Given the description of an element on the screen output the (x, y) to click on. 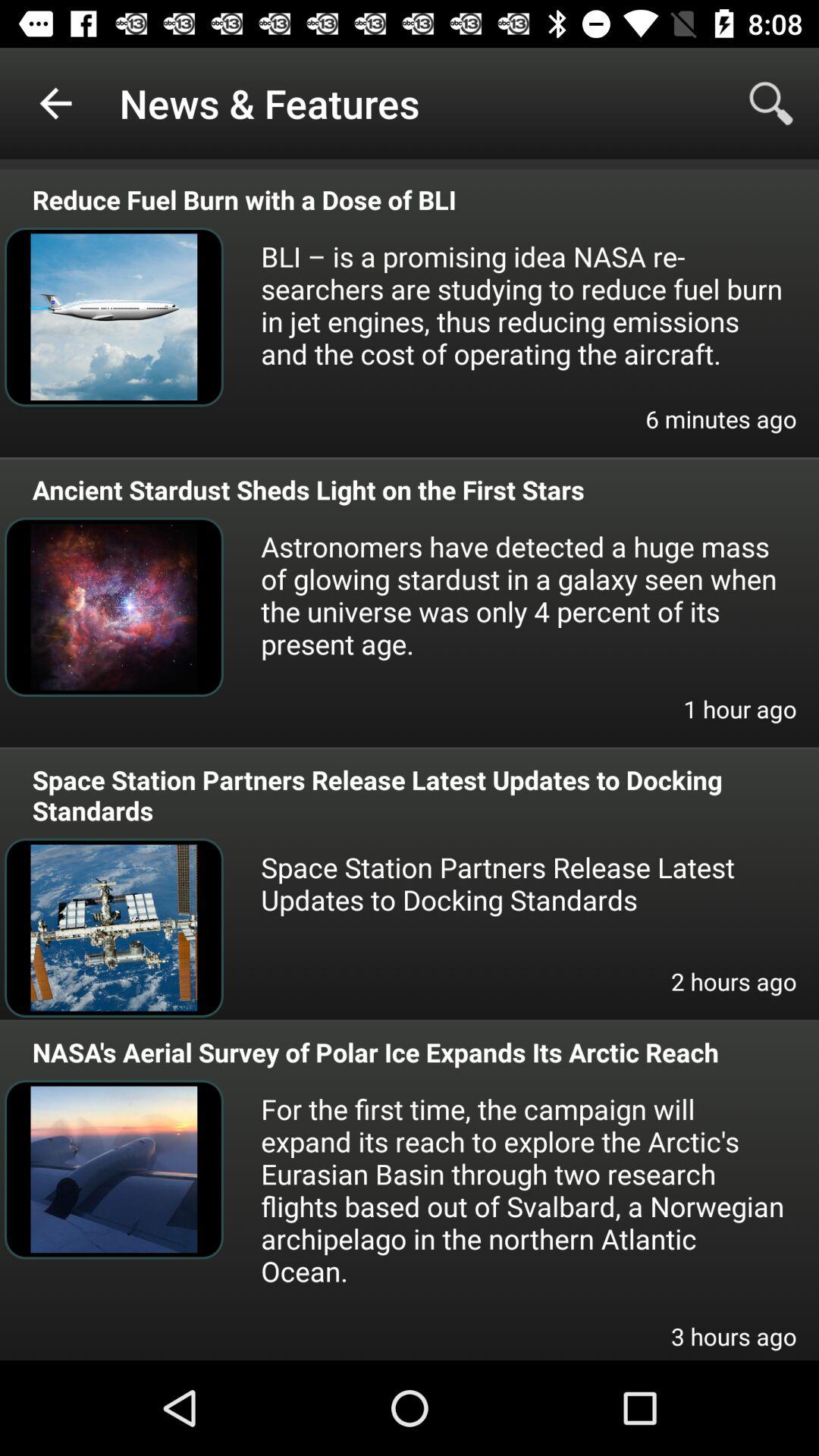
select item below ancient stardust sheds (523, 594)
